Given the description of an element on the screen output the (x, y) to click on. 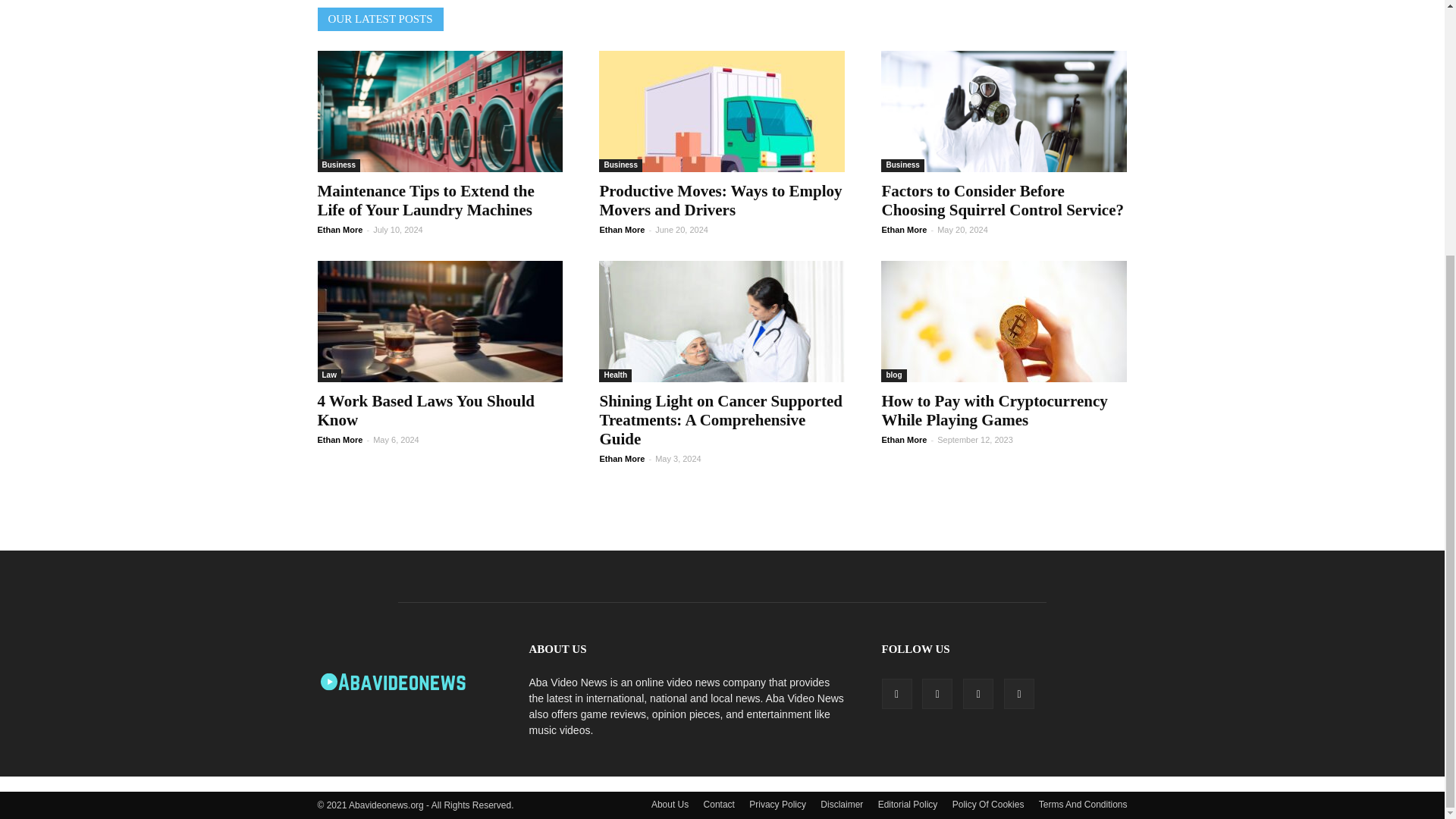
Productive Moves: Ways to Employ Movers and Drivers (721, 110)
Business (338, 164)
Maintenance Tips to Extend the Life of Your Laundry Machines (425, 200)
Productive Moves: Ways to Employ Movers and Drivers (719, 200)
Maintenance Tips to Extend the Life of Your Laundry Machines (439, 110)
